Given the description of an element on the screen output the (x, y) to click on. 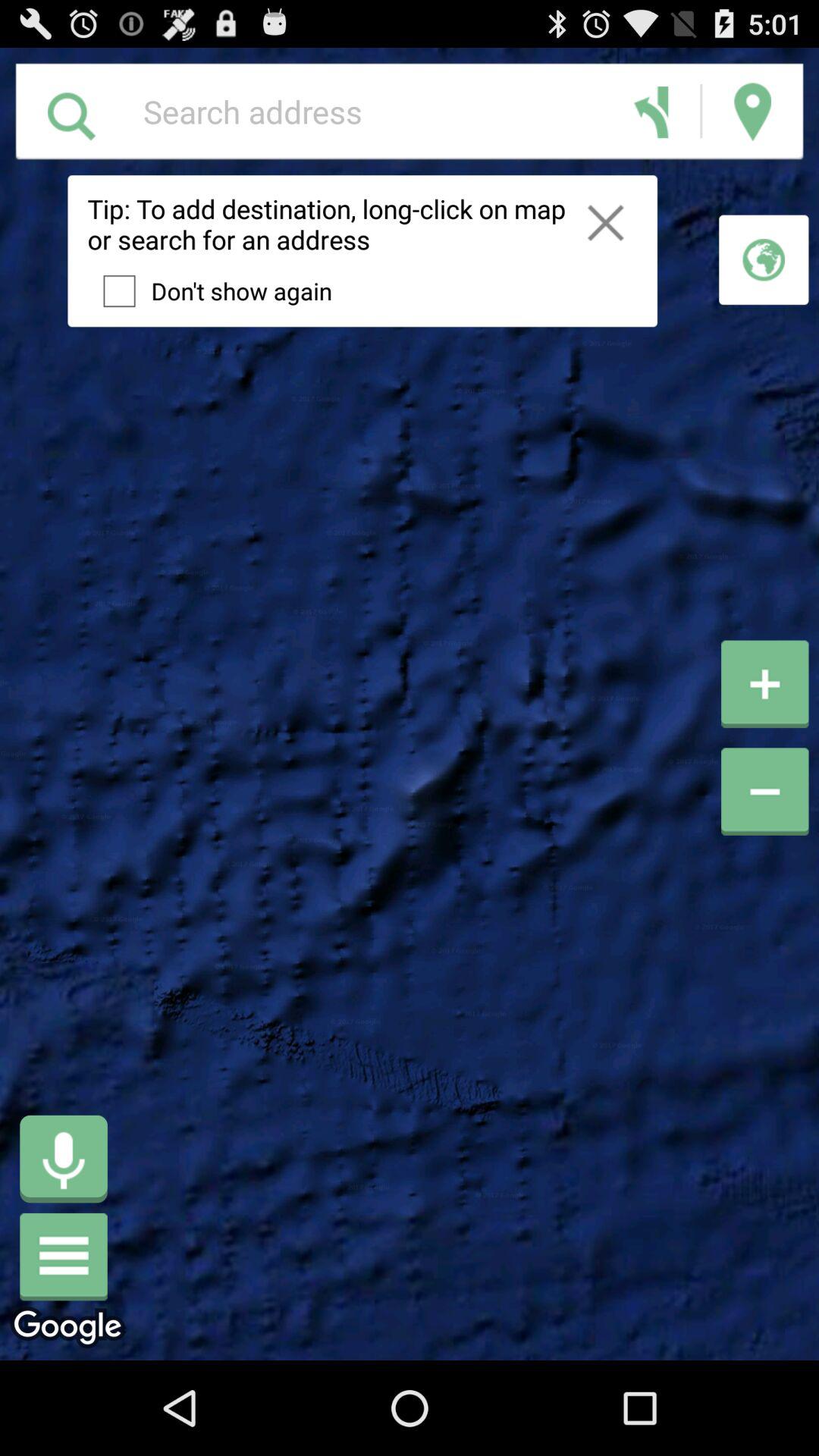
record voice (63, 1158)
